Given the description of an element on the screen output the (x, y) to click on. 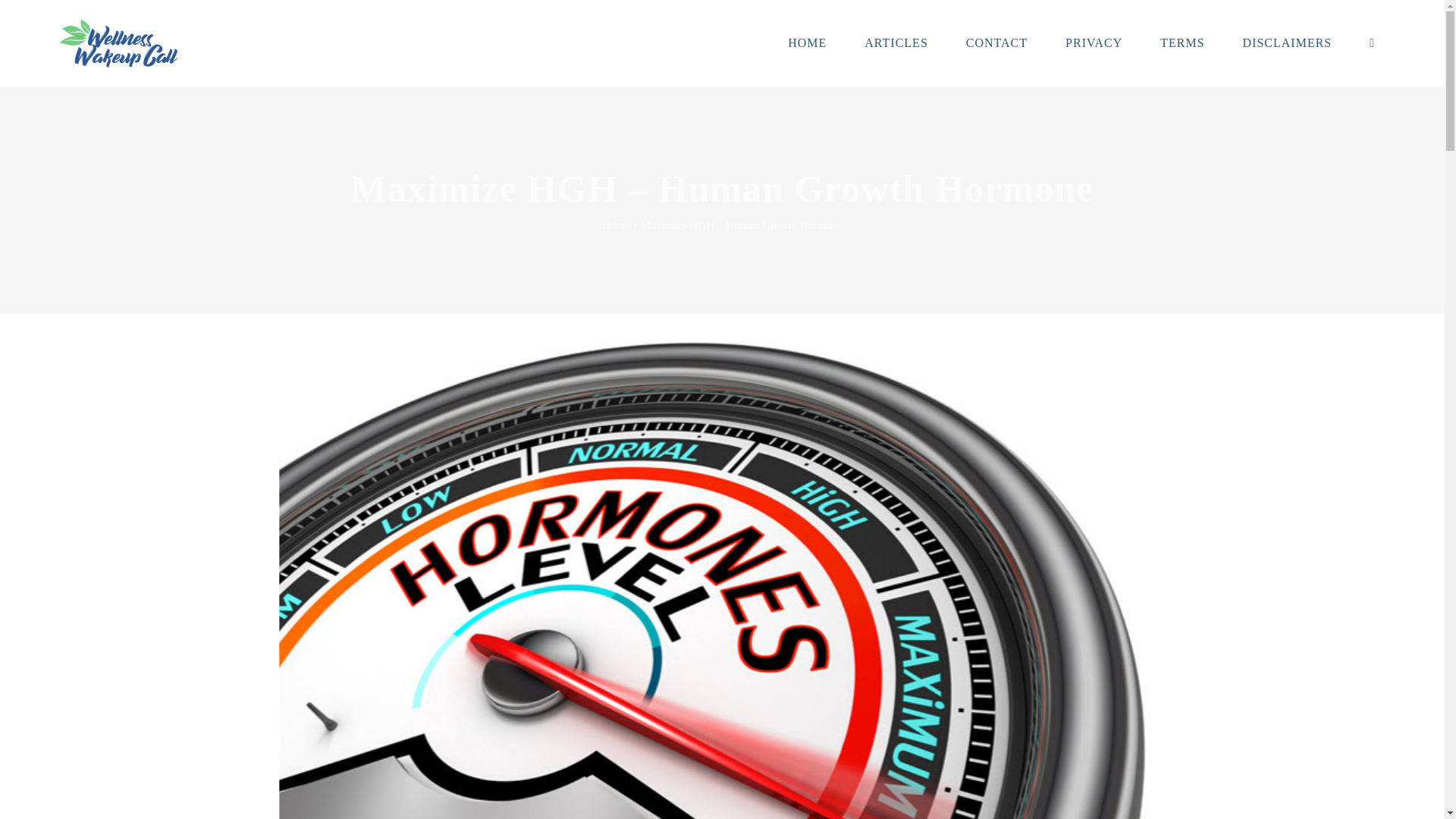
PRIVACY (1093, 42)
TERMS (1182, 42)
DISCLAIMERS (1287, 42)
ARTICLES (895, 42)
CONTACT (996, 42)
Home (614, 224)
HOME (806, 42)
